Given the description of an element on the screen output the (x, y) to click on. 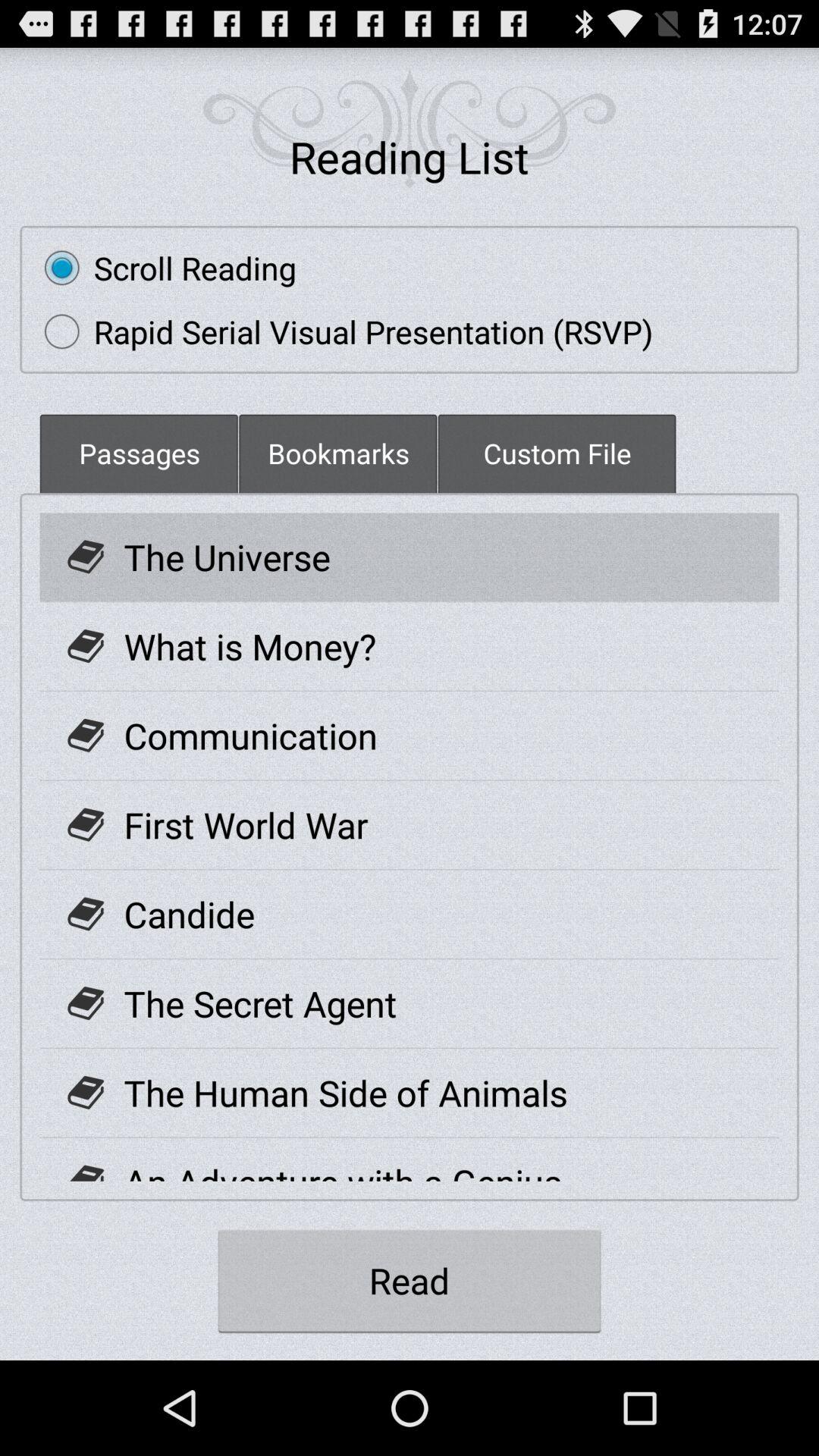
turn off item next to custom file item (337, 453)
